Given the description of an element on the screen output the (x, y) to click on. 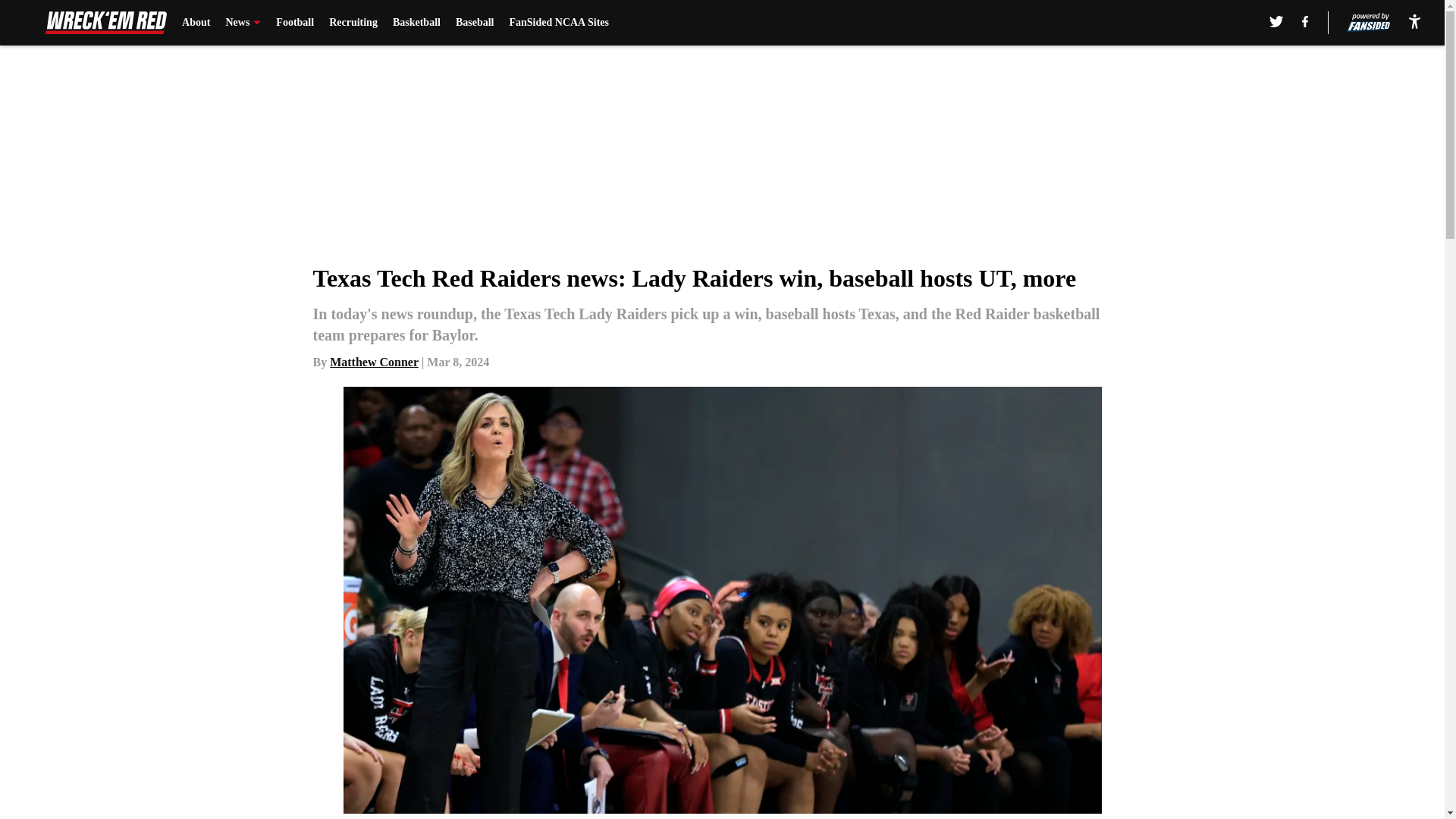
Matthew Conner (374, 361)
Basketball (417, 22)
Football (295, 22)
Recruiting (353, 22)
About (195, 22)
Baseball (475, 22)
FanSided NCAA Sites (558, 22)
